Given the description of an element on the screen output the (x, y) to click on. 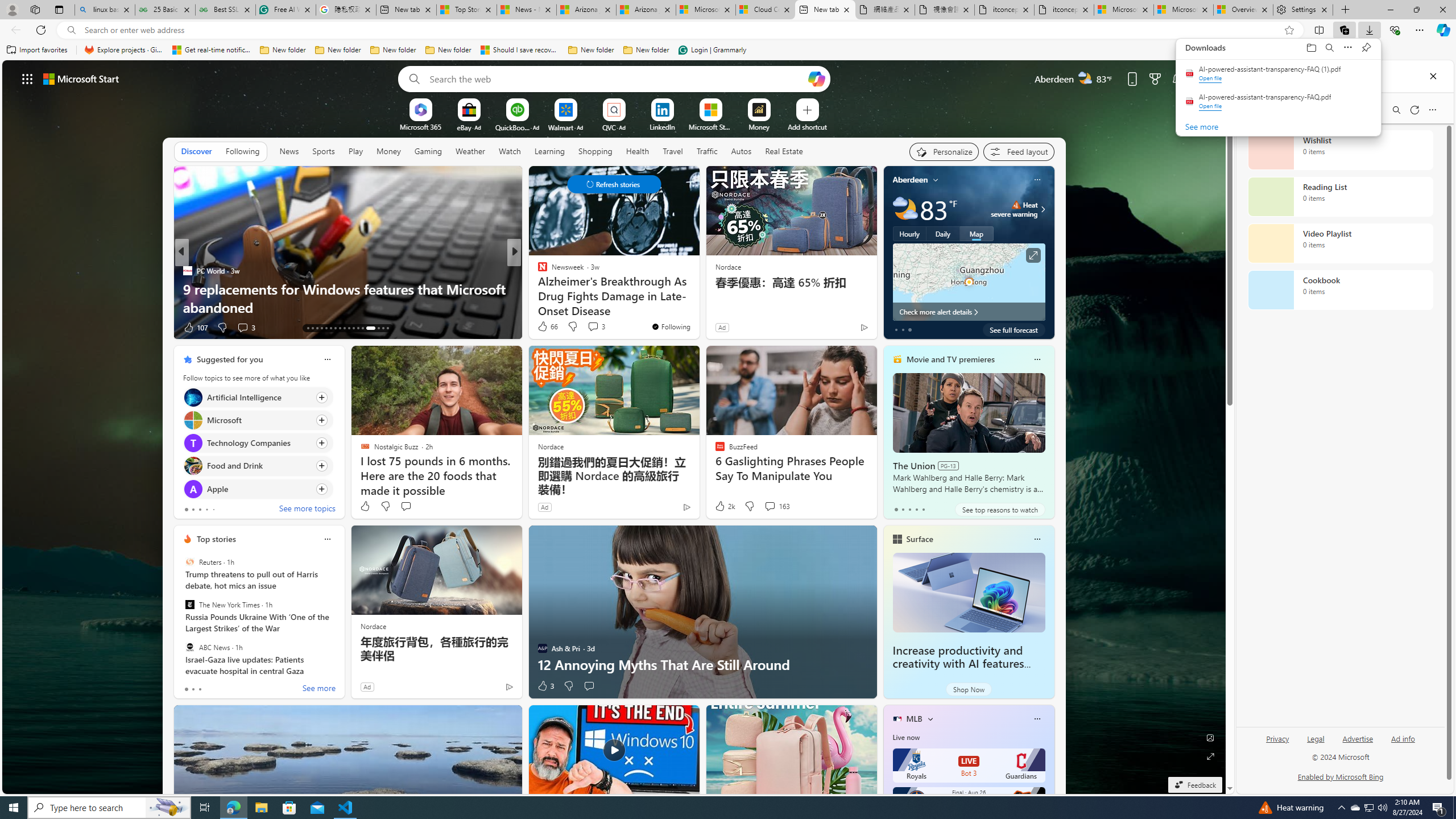
Gaming (428, 151)
tab-1 (192, 689)
AutomationID: tab-23 (353, 328)
AutomationID: tab-21 (344, 328)
See more topics (306, 509)
Video Playlist collection, 0 items (1339, 243)
View comments 163 Comment (770, 505)
Shopping (594, 151)
Hourly (909, 233)
Travel (672, 151)
AutomationID: tab-19 (335, 328)
